Given the description of an element on the screen output the (x, y) to click on. 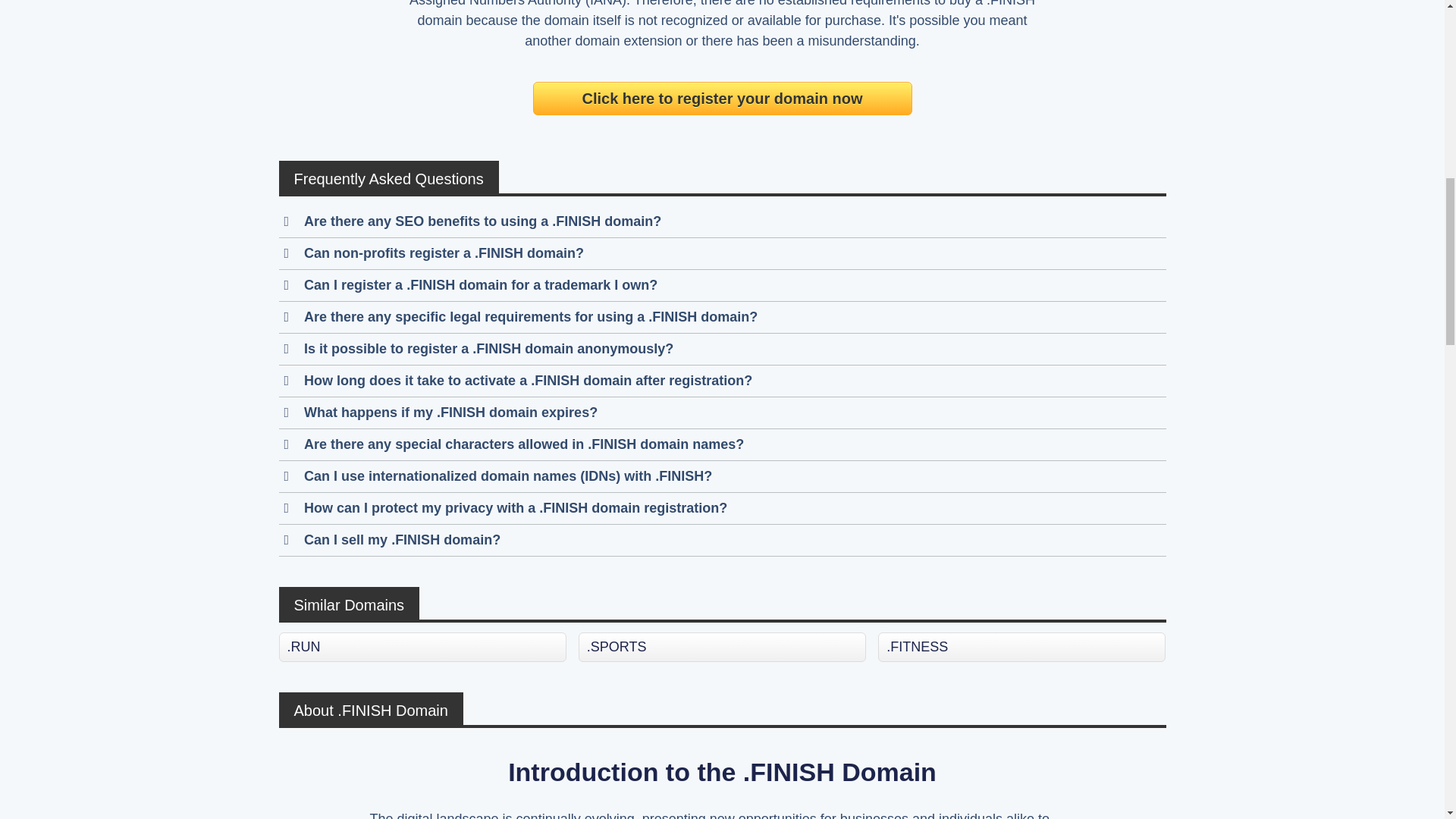
.FITNESS Domain - Sports (1021, 646)
.SPORTS Domain - Sports (722, 646)
.FITNESS (1021, 646)
.SPORTS (722, 646)
Click here to register your domain now (721, 98)
.RUN Domain - Sports (422, 646)
.RUN (422, 646)
